Given the description of an element on the screen output the (x, y) to click on. 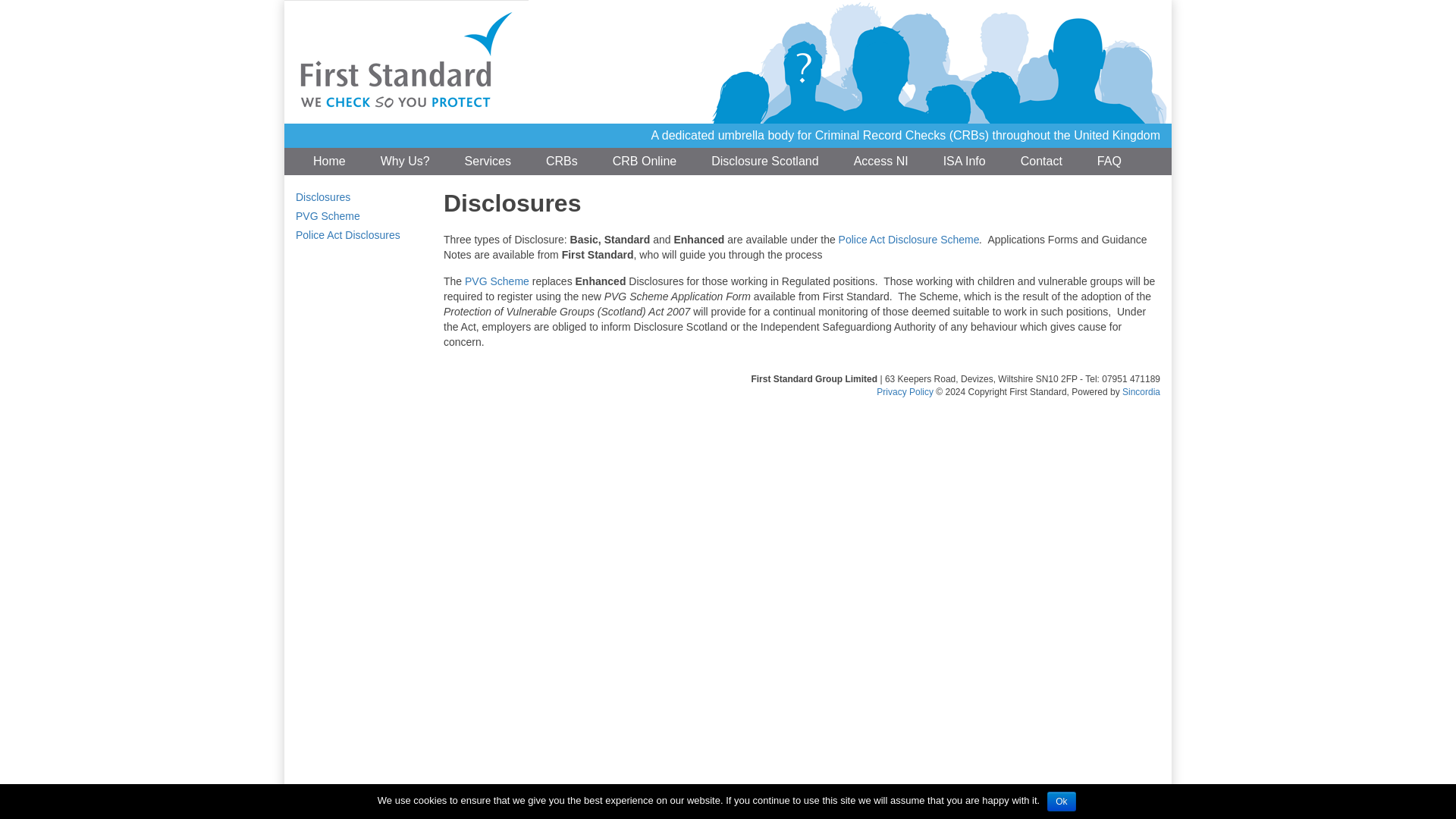
PVG Scheme (498, 281)
Disclosure Scotland (764, 161)
Police Act Disclosure Scheme (908, 239)
PVGScheme (498, 281)
CRBs (561, 161)
Police Act Disclosures (347, 234)
Contact (1041, 161)
ISA Info (964, 161)
Home (328, 161)
Disclosures (322, 196)
Access NI (880, 161)
PVG Scheme (327, 215)
Privacy Policy (904, 391)
Why Us? (404, 161)
Disclosures (322, 196)
